Given the description of an element on the screen output the (x, y) to click on. 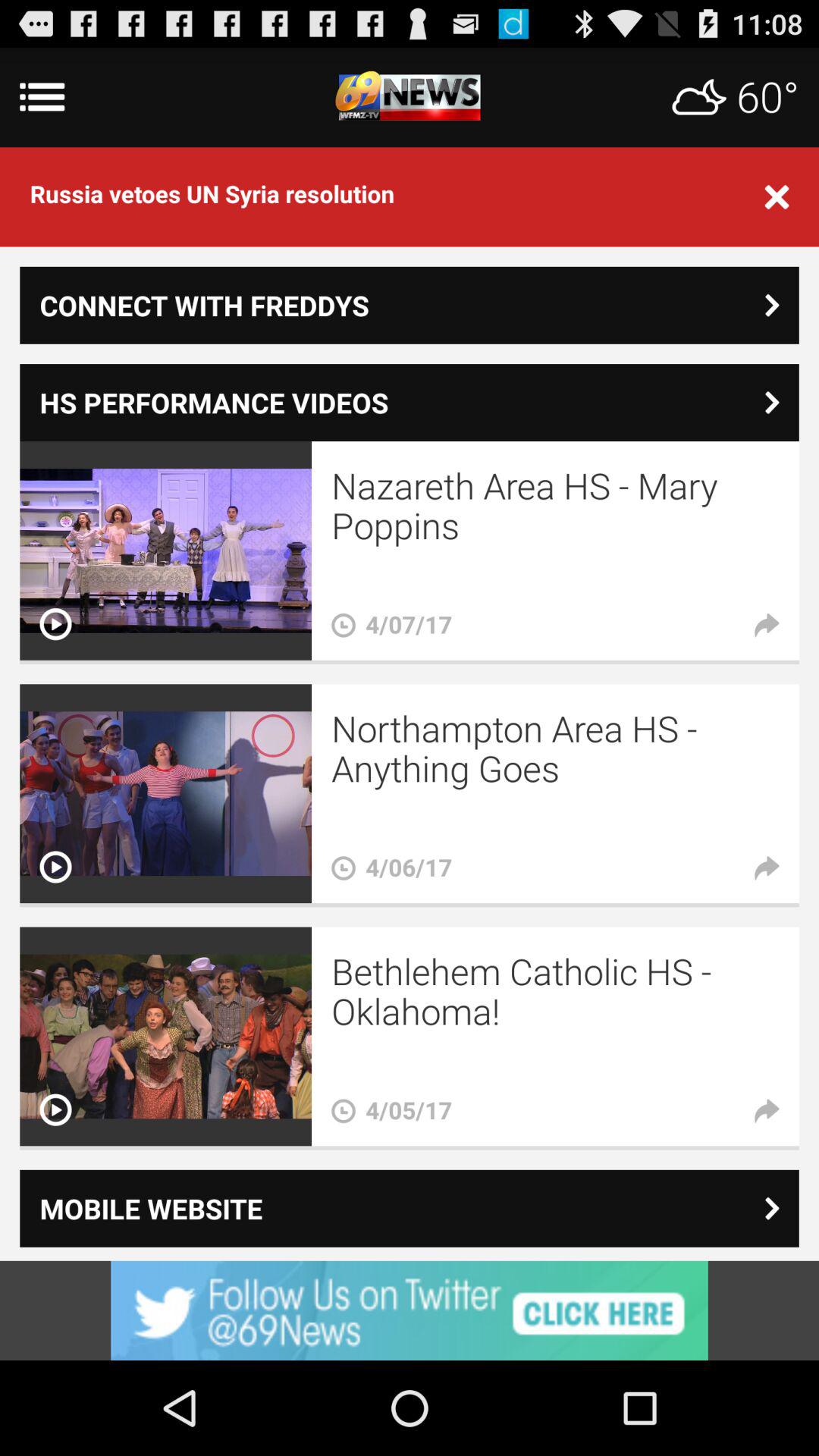
open 69news twitter (409, 1310)
